Given the description of an element on the screen output the (x, y) to click on. 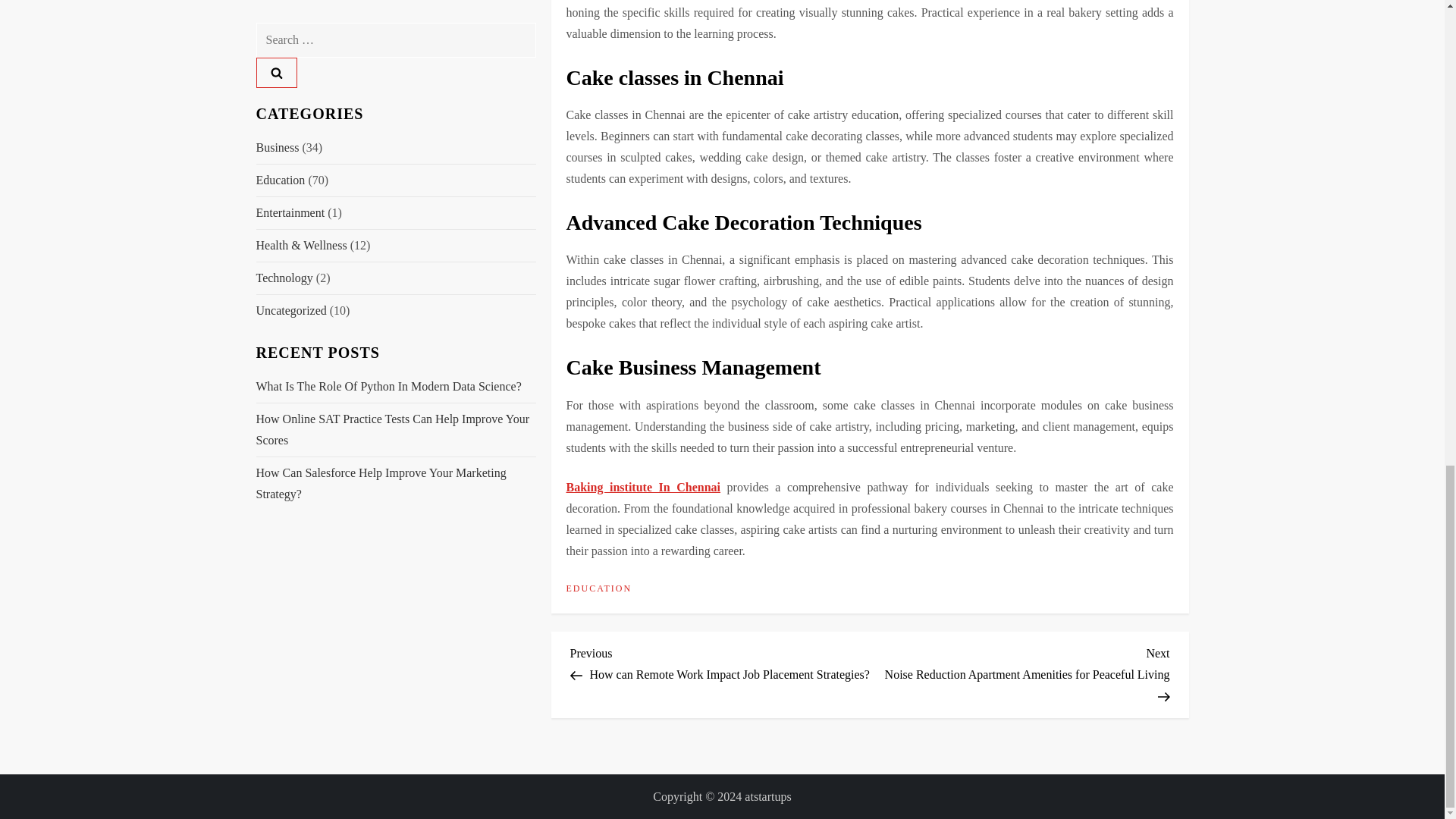
EDUCATION (598, 589)
Baking institute In Chennai (643, 486)
